Given the description of an element on the screen output the (x, y) to click on. 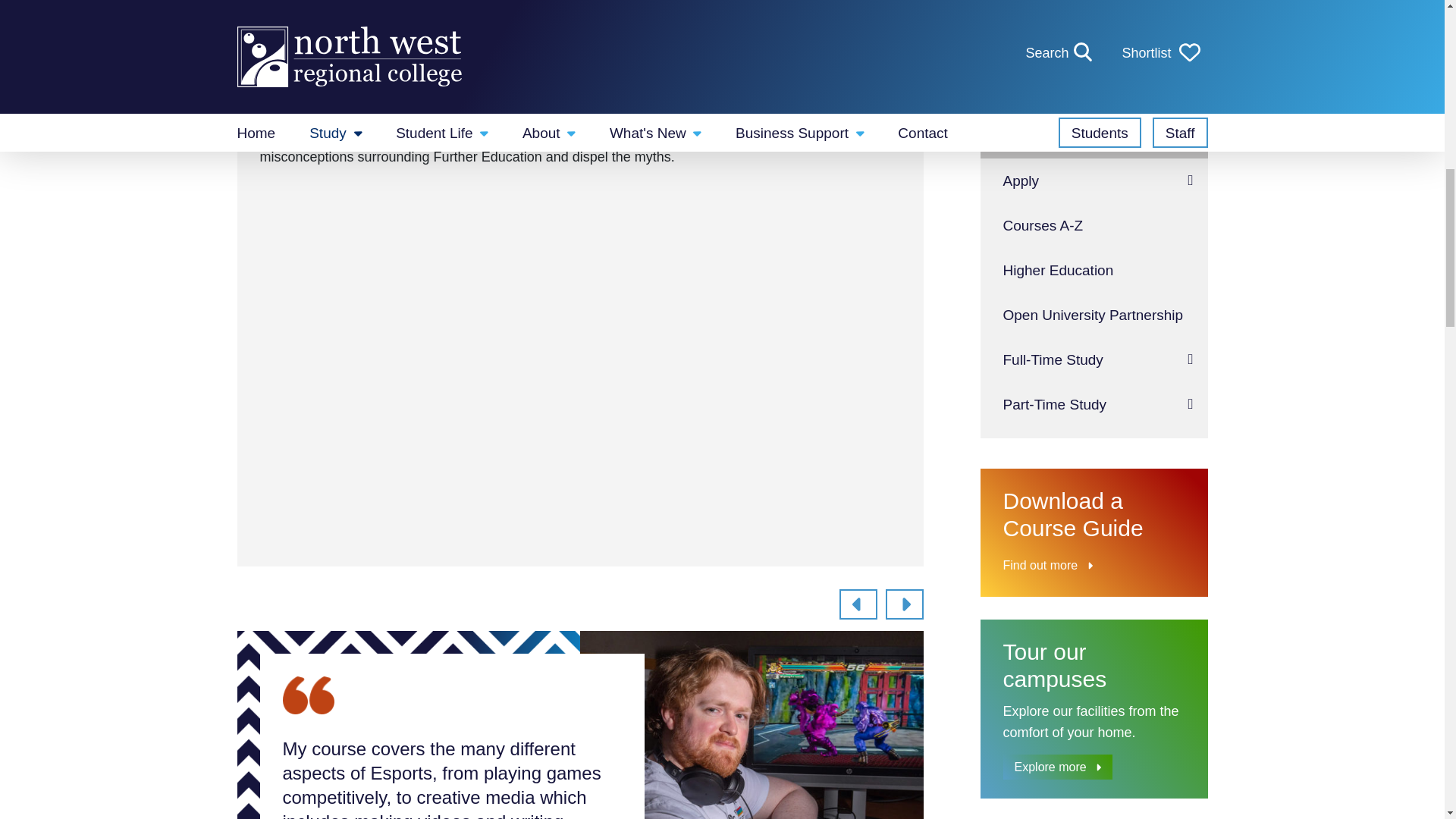
Forward (904, 603)
Back (858, 603)
